Given the description of an element on the screen output the (x, y) to click on. 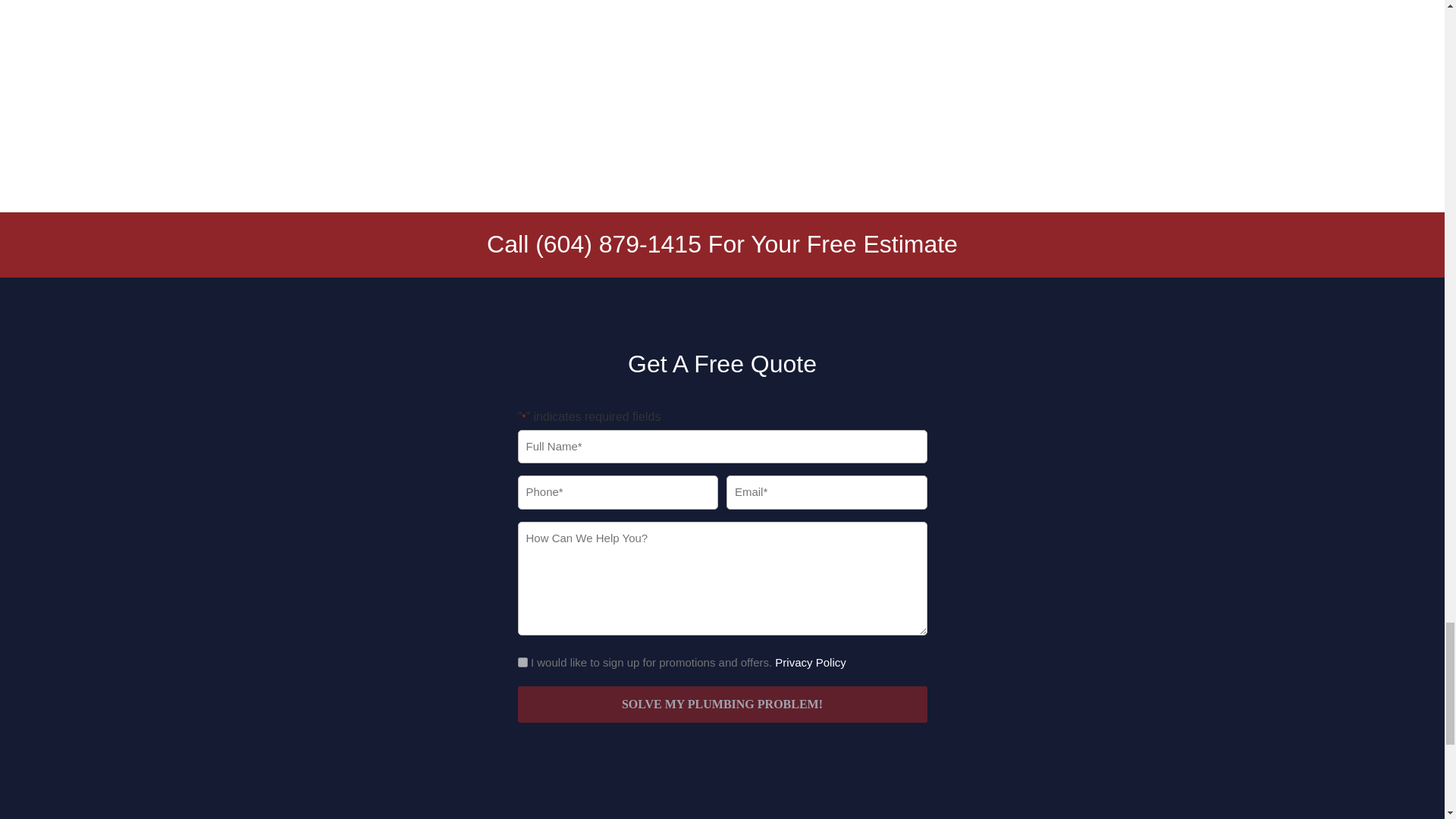
Solve My Plumbing Problem! (721, 704)
